Given the description of an element on the screen output the (x, y) to click on. 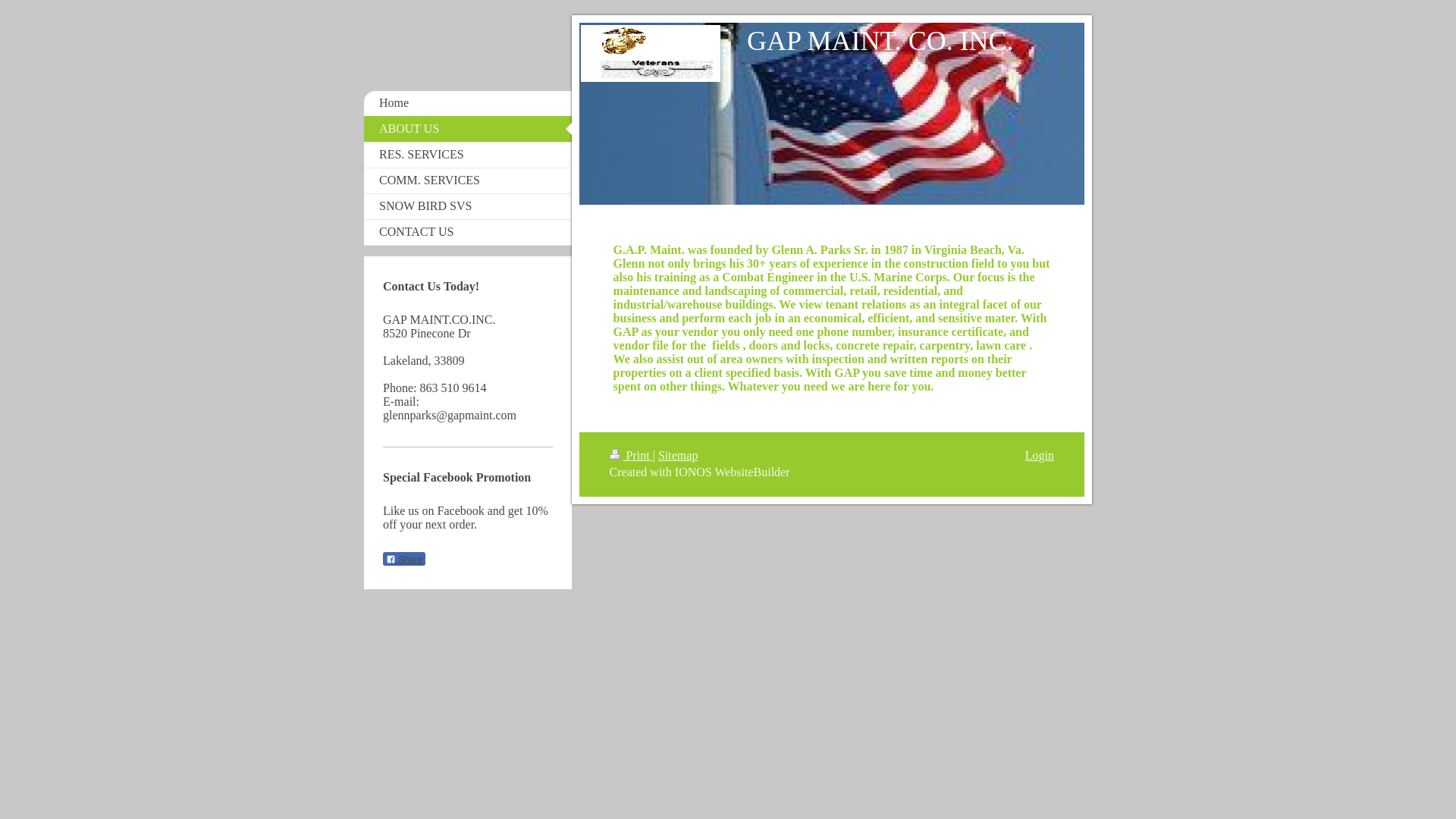
Home (468, 103)
Print (631, 454)
CONTACT US (468, 232)
SNOW BIRD SVS (468, 206)
Sitemap (677, 454)
GAP MAINT. CO. INC. (879, 40)
RES. SERVICES (468, 154)
Share (403, 558)
Login (1039, 454)
ABOUT US (468, 129)
